Given the description of an element on the screen output the (x, y) to click on. 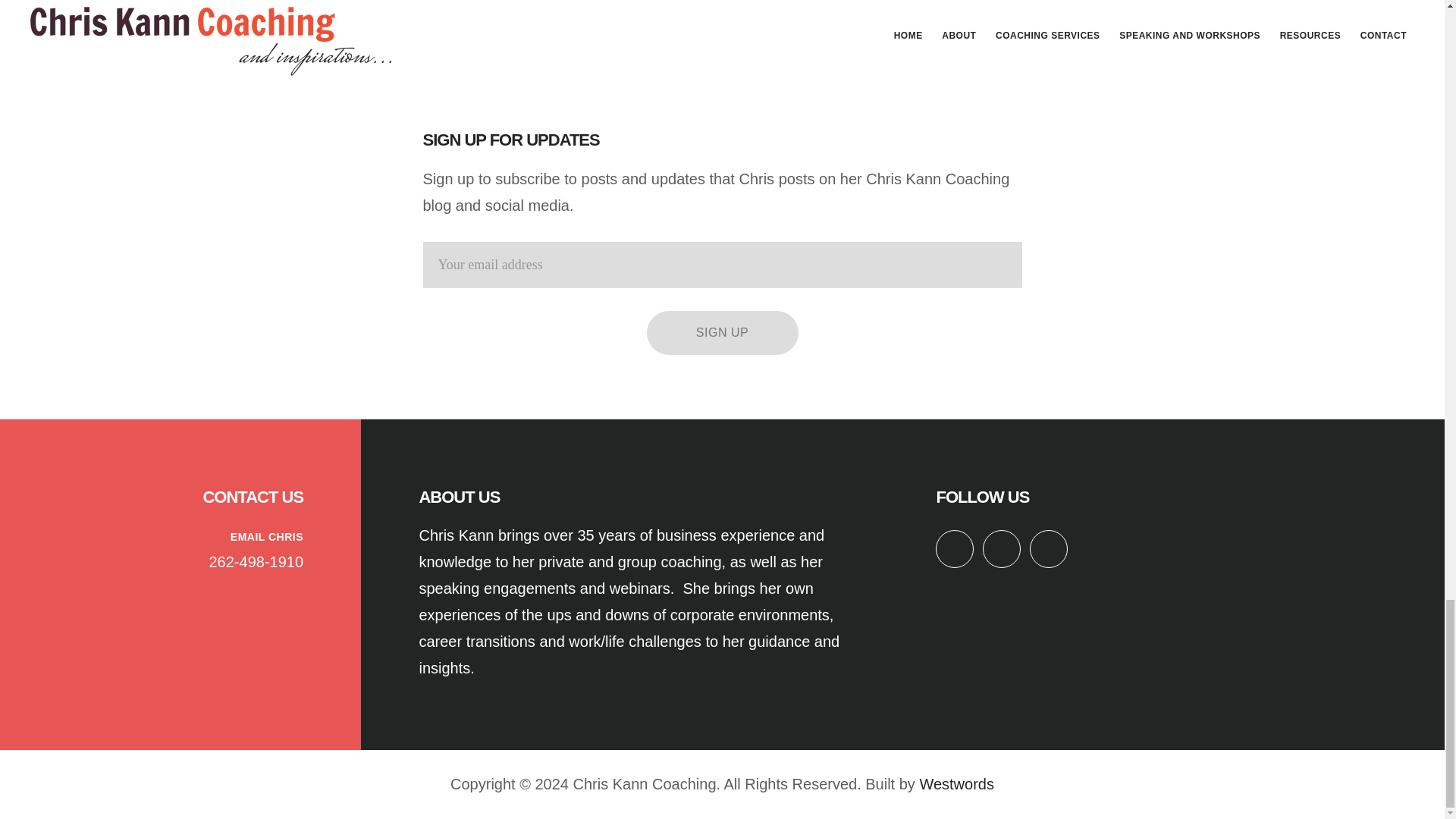
LEARN MORE (721, 1)
Westwords (956, 783)
EMAIL CHRIS (266, 536)
Sign up (721, 332)
Sign up (721, 332)
LEARN MORE (453, 21)
LEARN MORE (989, 1)
